Given the description of an element on the screen output the (x, y) to click on. 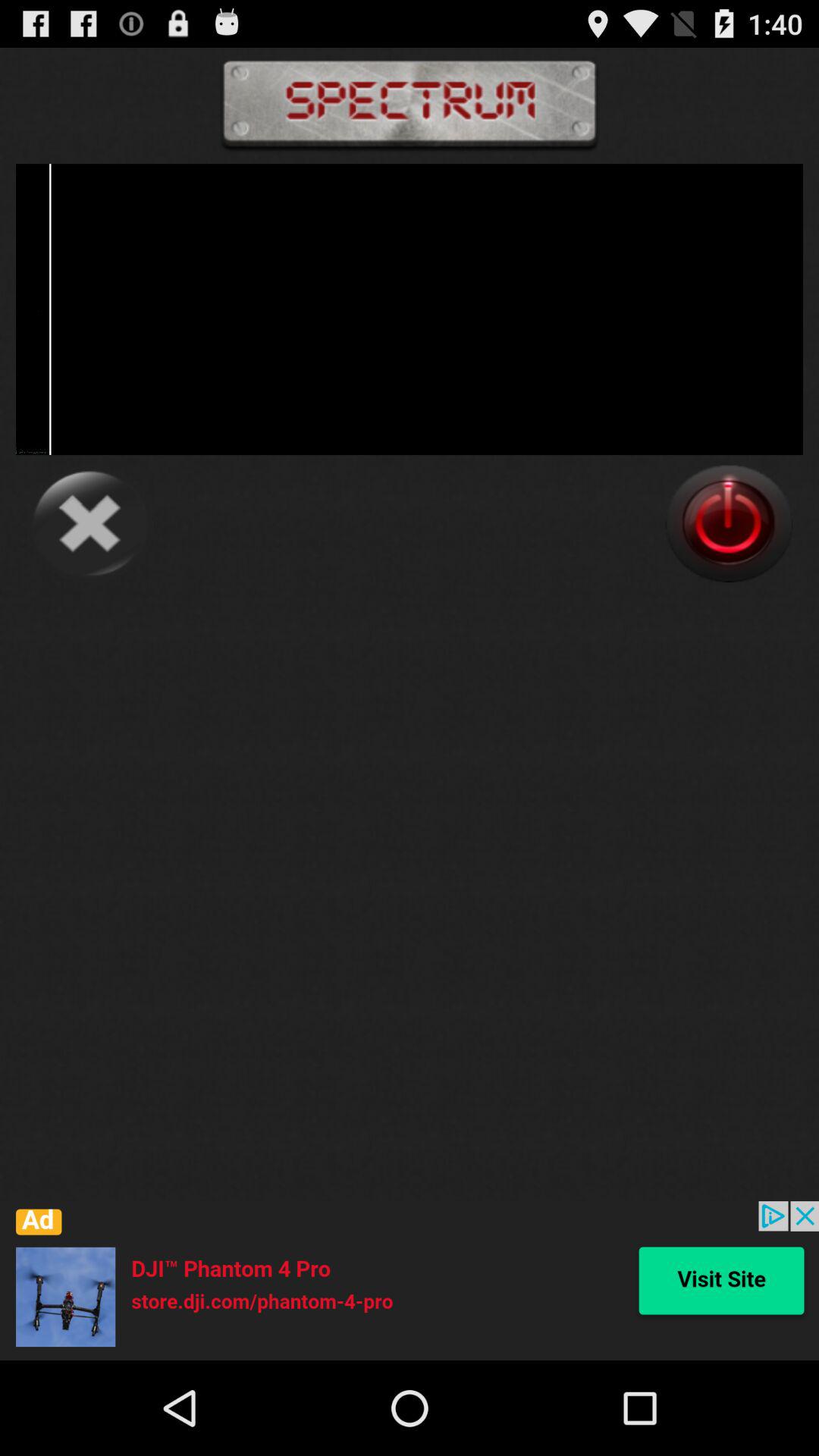
cancel (89, 523)
